Given the description of an element on the screen output the (x, y) to click on. 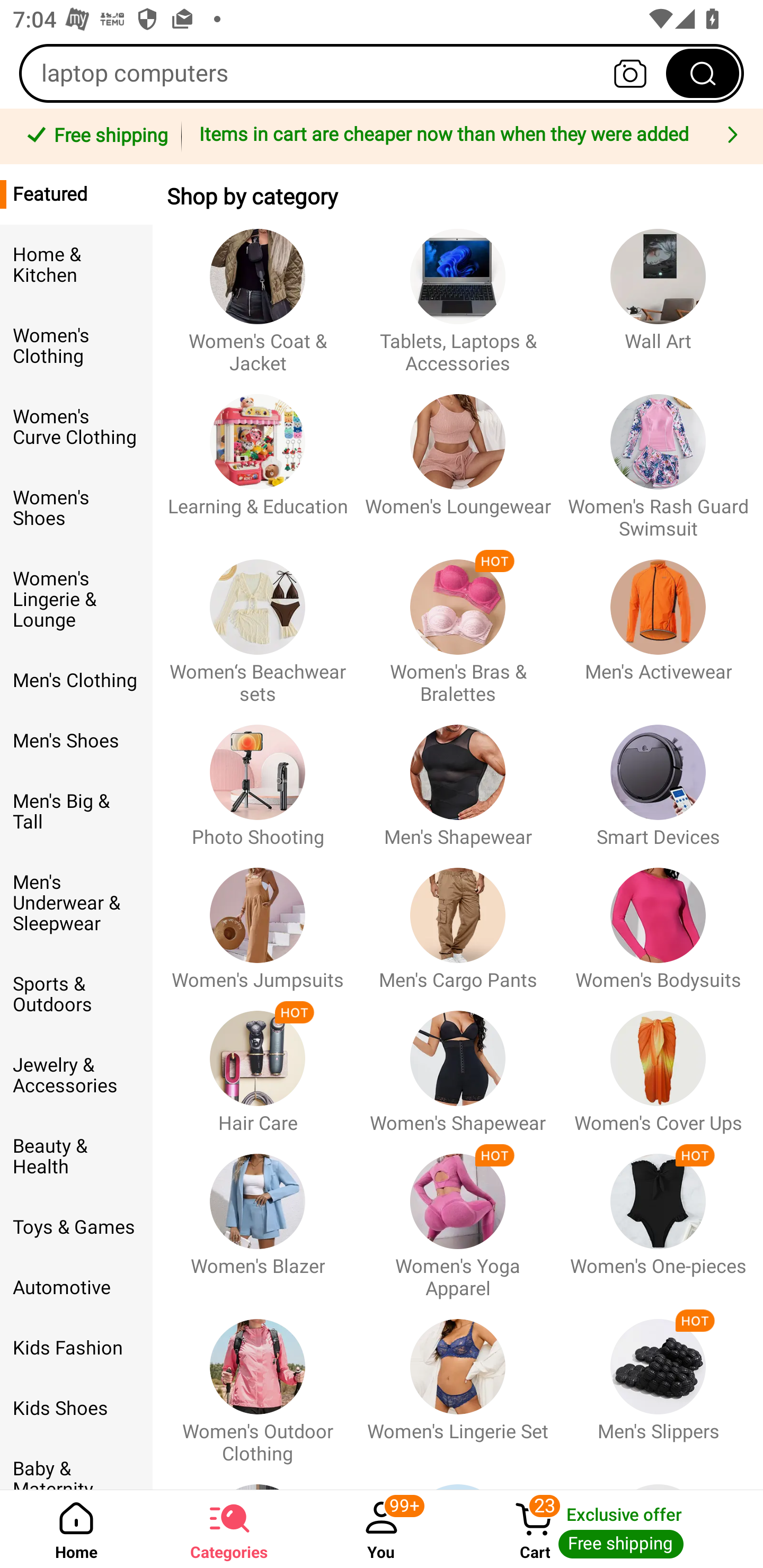
laptop computers (381, 73)
 Free shipping (93, 136)
Featured (76, 194)
Women's Coat & Jacket (257, 292)
Tablets, Laptops & Accessories (457, 292)
Wall Art (657, 292)
Home & Kitchen (76, 264)
Women's Clothing (76, 346)
Learning & Education (257, 457)
Women's Loungewear (457, 457)
Women's Rash Guard Swimsuit (657, 457)
Women's Curve Clothing (76, 427)
Women's Shoes (76, 507)
Women‘s Beachwear sets (257, 622)
Women's Bras & Bralettes (457, 622)
Men's Activewear (657, 622)
Women's Lingerie & Lounge (76, 599)
Men's Clothing (76, 680)
Photo Shooting (257, 776)
Men's Shapewear (457, 776)
Smart Devices (657, 776)
Men's Shoes (76, 740)
Men's Big & Tall (76, 811)
Women's Jumpsuits (257, 919)
Men's Cargo Pants (457, 919)
Women's Bodysuits (657, 919)
Men's Underwear & Sleepwear (76, 902)
Sports & Outdoors (76, 993)
Hair Care (257, 1062)
Women's Shapewear (457, 1062)
Women's Cover Ups (657, 1062)
Jewelry & Accessories (76, 1075)
Beauty & Health (76, 1156)
Women's Blazer (257, 1217)
Women's Yoga Apparel (457, 1217)
Women's One-pieces (657, 1217)
Toys & Games (76, 1227)
Automotive (76, 1287)
Women's Outdoor Clothing (257, 1381)
Women's Lingerie Set (457, 1381)
Men's Slippers (657, 1381)
Kids Fashion (76, 1348)
Kids Shoes (76, 1408)
Baby & Maternity (76, 1464)
Home (76, 1528)
Categories (228, 1528)
You ‎99+‎ You (381, 1528)
Cart 23 Cart Exclusive offer (610, 1528)
